Given the description of an element on the screen output the (x, y) to click on. 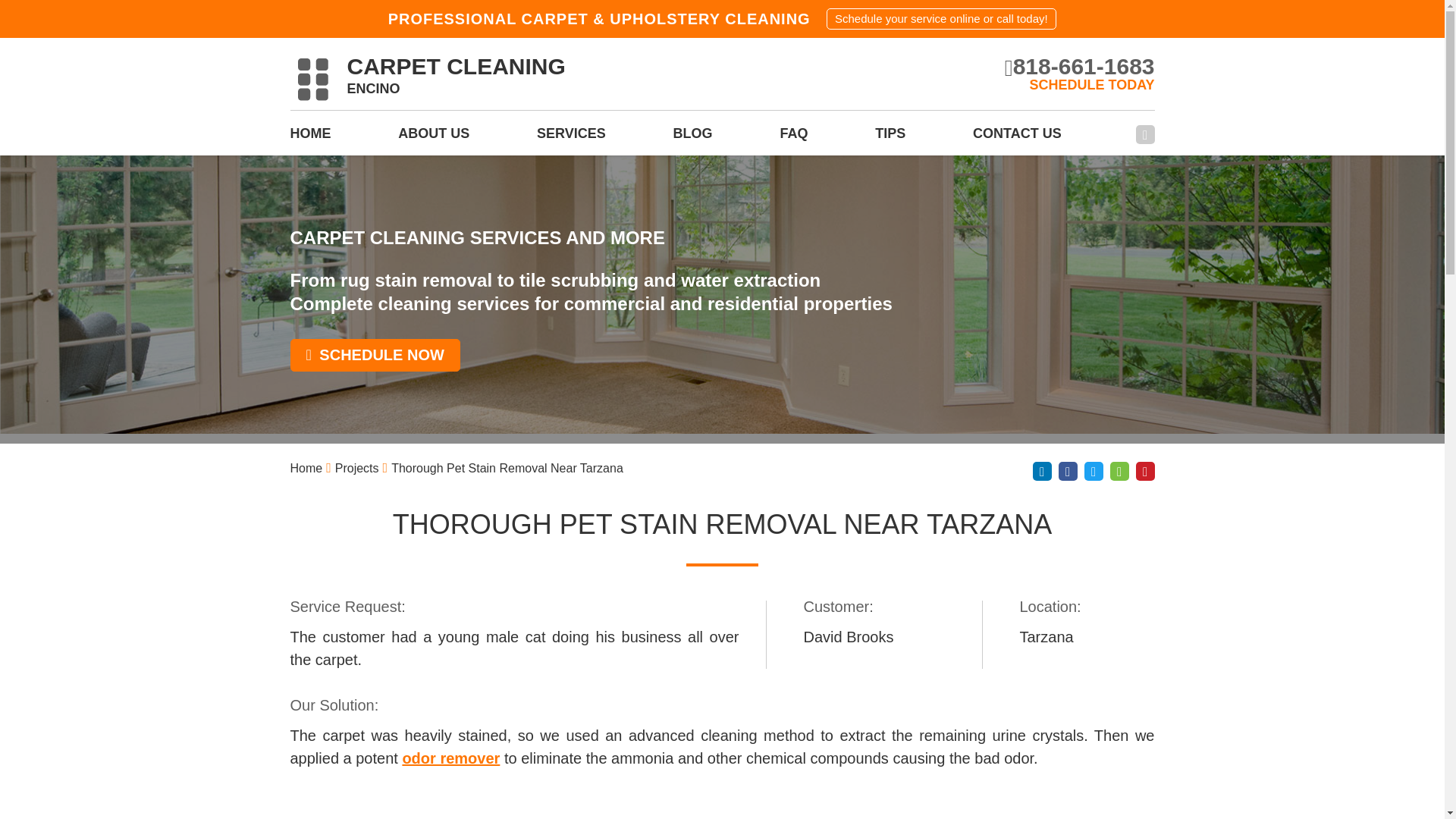
Carpet Cleaning Encino (426, 79)
Twitter (1093, 470)
Facebook (1144, 134)
Facebook (1067, 470)
Schedule your service online or call today! (942, 18)
HOME (309, 138)
BLOG (692, 138)
Click here to enter Home page (305, 468)
Home (305, 468)
SERVICES (571, 138)
